Given the description of an element on the screen output the (x, y) to click on. 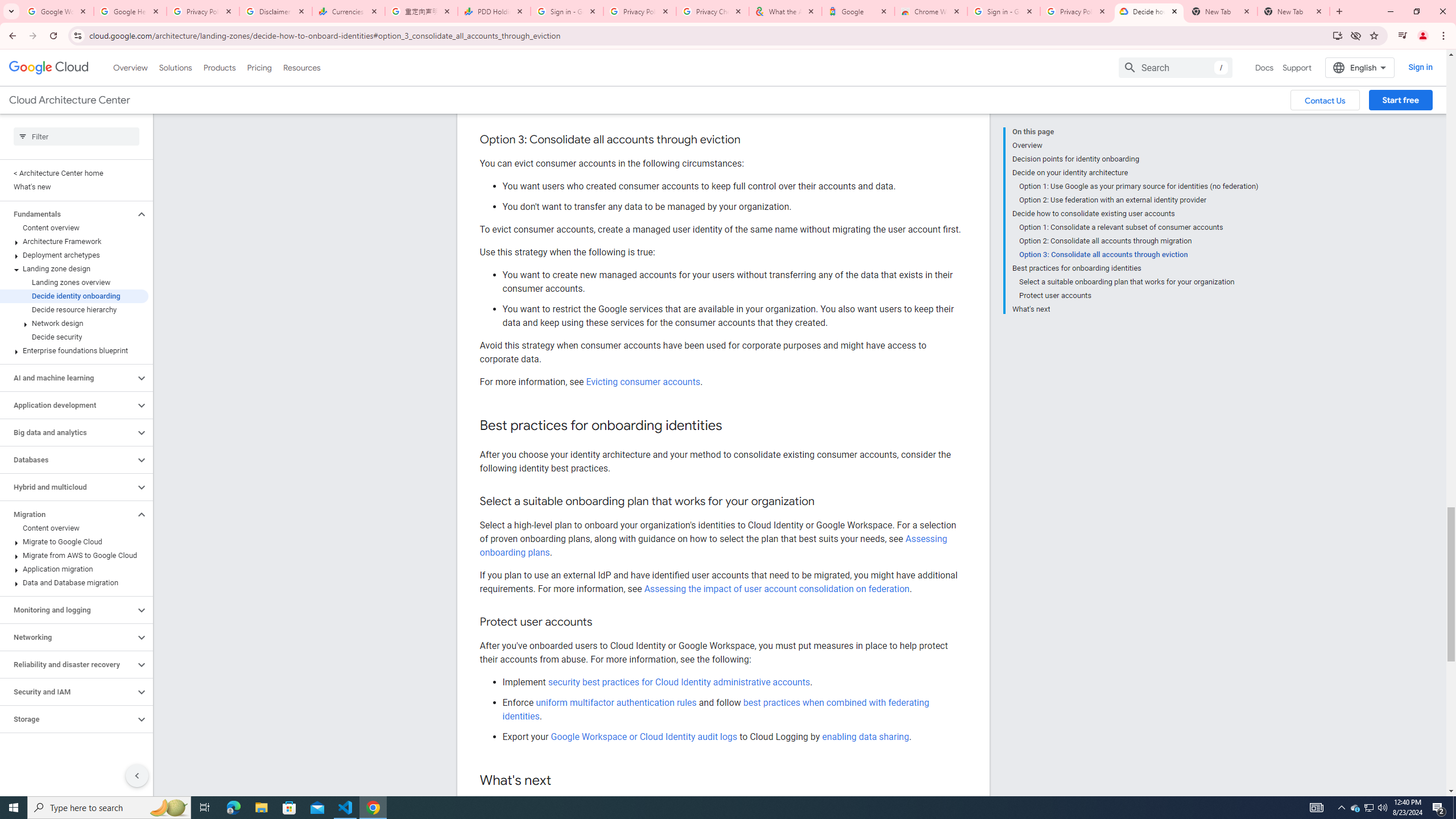
Type to filter (76, 136)
Best practices for onboarding identities (1134, 268)
Landing zones overview (74, 282)
Decide how to consolidate existing user accounts (1134, 213)
Hybrid and multicloud (67, 486)
Support (1296, 67)
What's next (1134, 307)
